Given the description of an element on the screen output the (x, y) to click on. 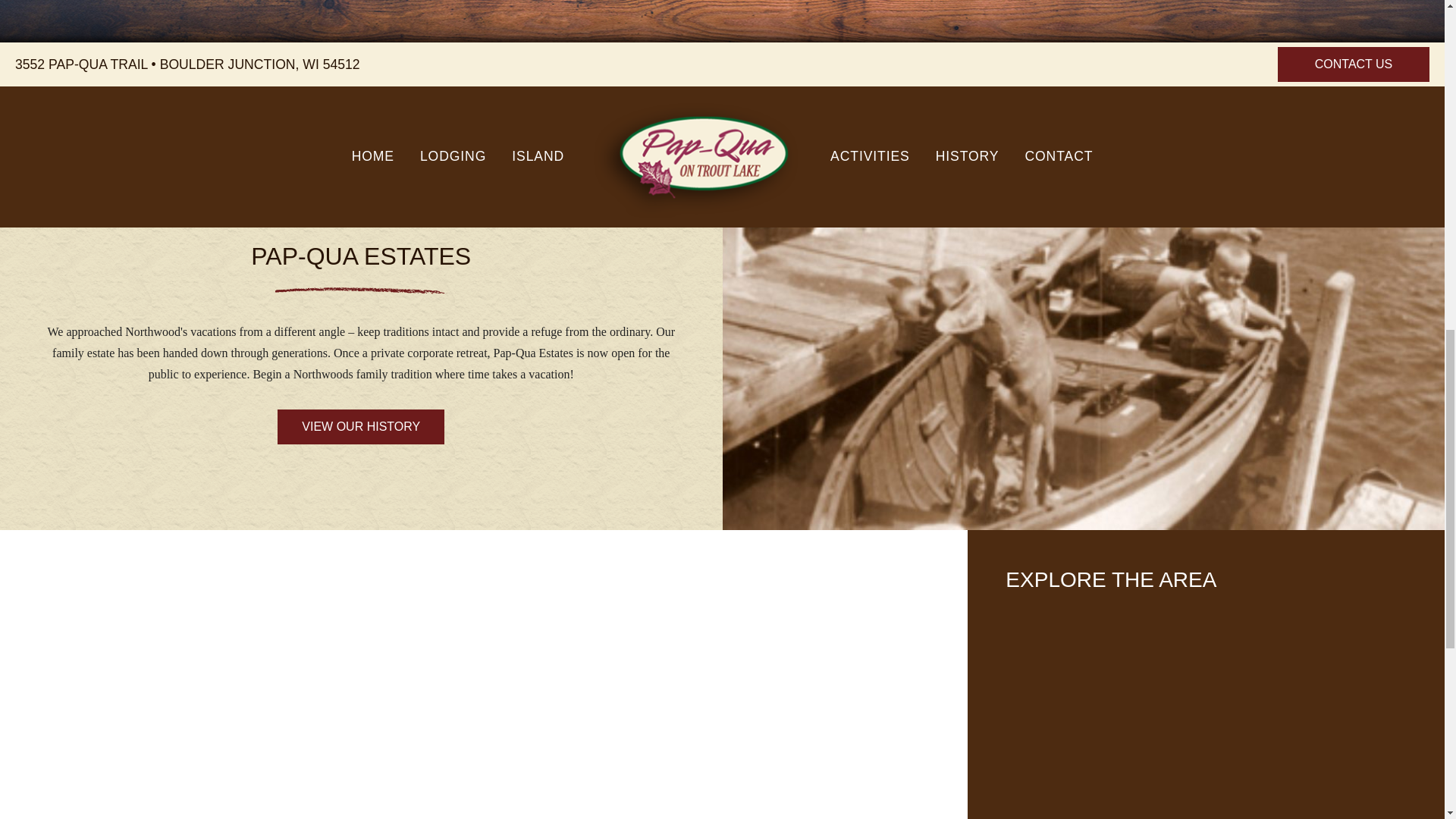
VIEW OUR HISTORY (361, 426)
